Given the description of an element on the screen output the (x, y) to click on. 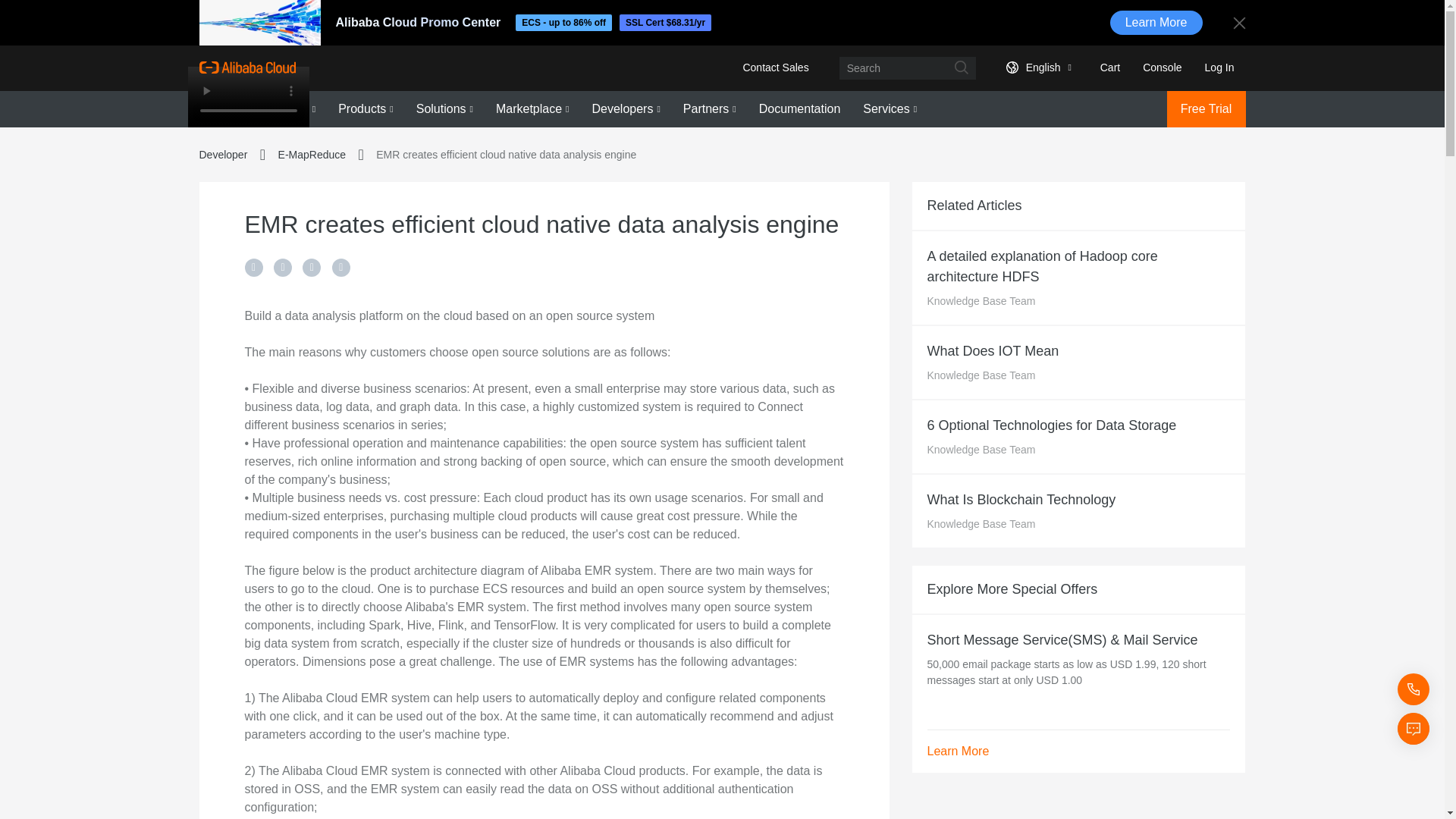
Contact Sales (774, 67)
Alibaba Cloud (246, 67)
English (1035, 67)
